Given the description of an element on the screen output the (x, y) to click on. 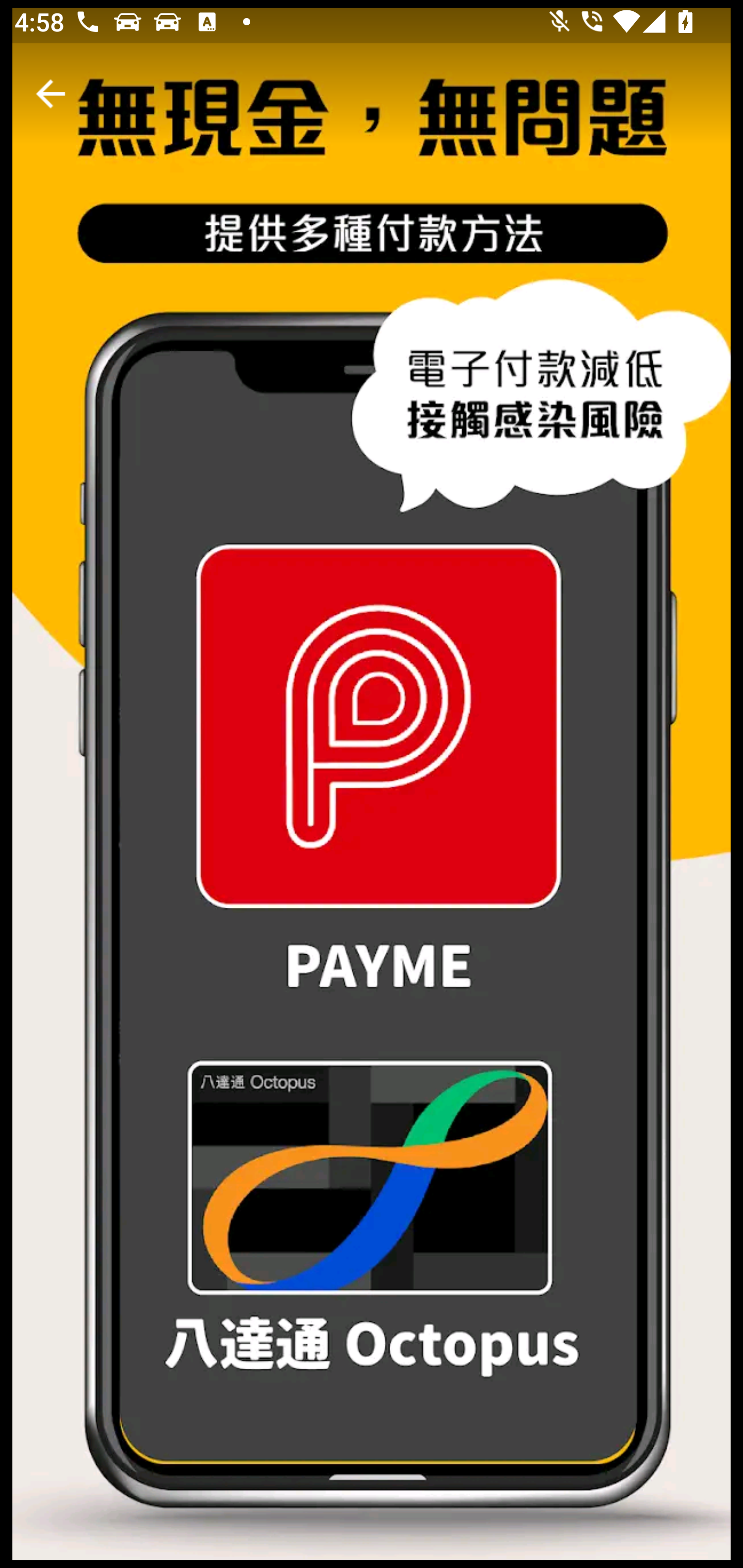
Back (50, 93)
